Given the description of an element on the screen output the (x, y) to click on. 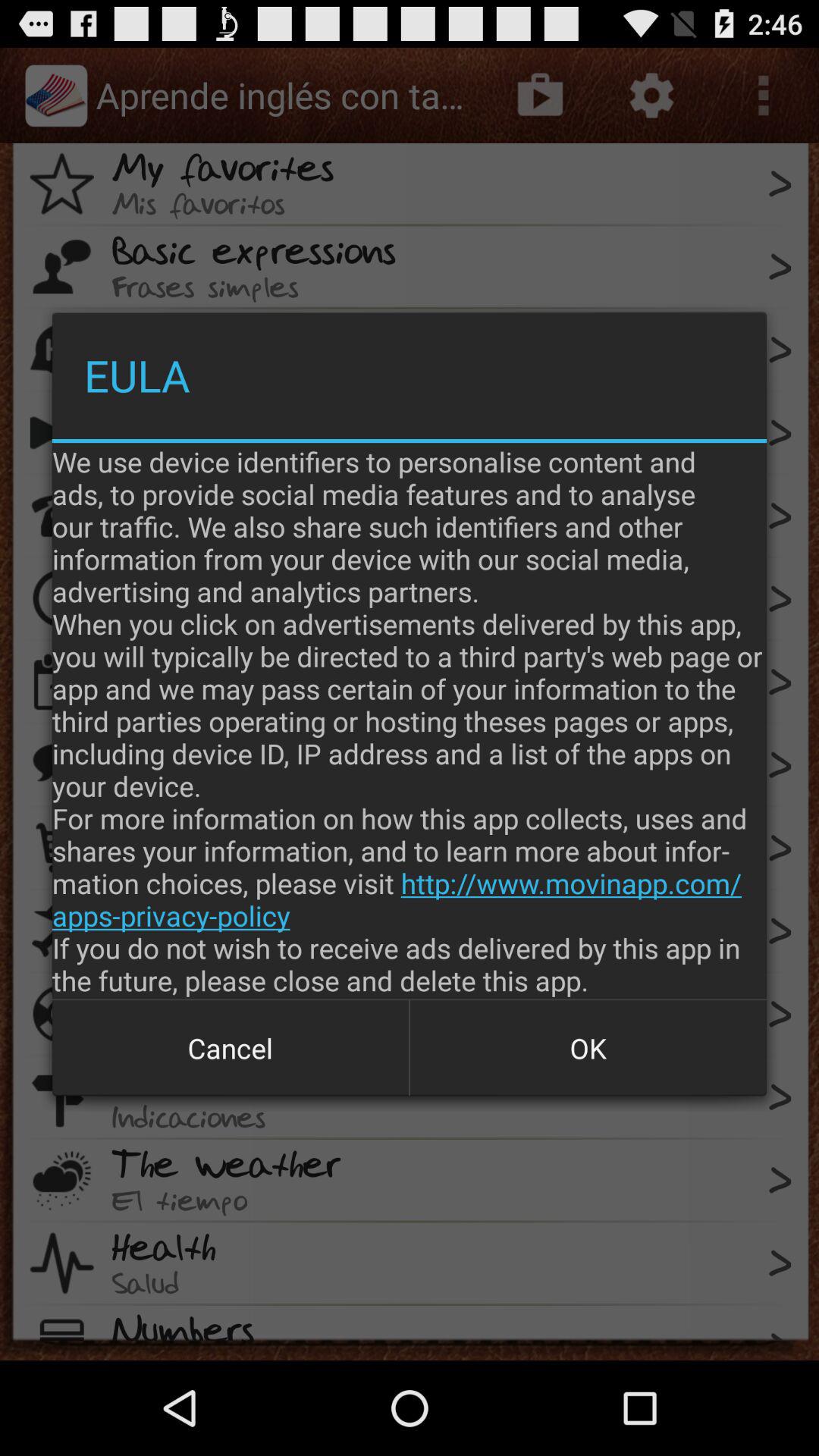
press item at the center (409, 721)
